Given the description of an element on the screen output the (x, y) to click on. 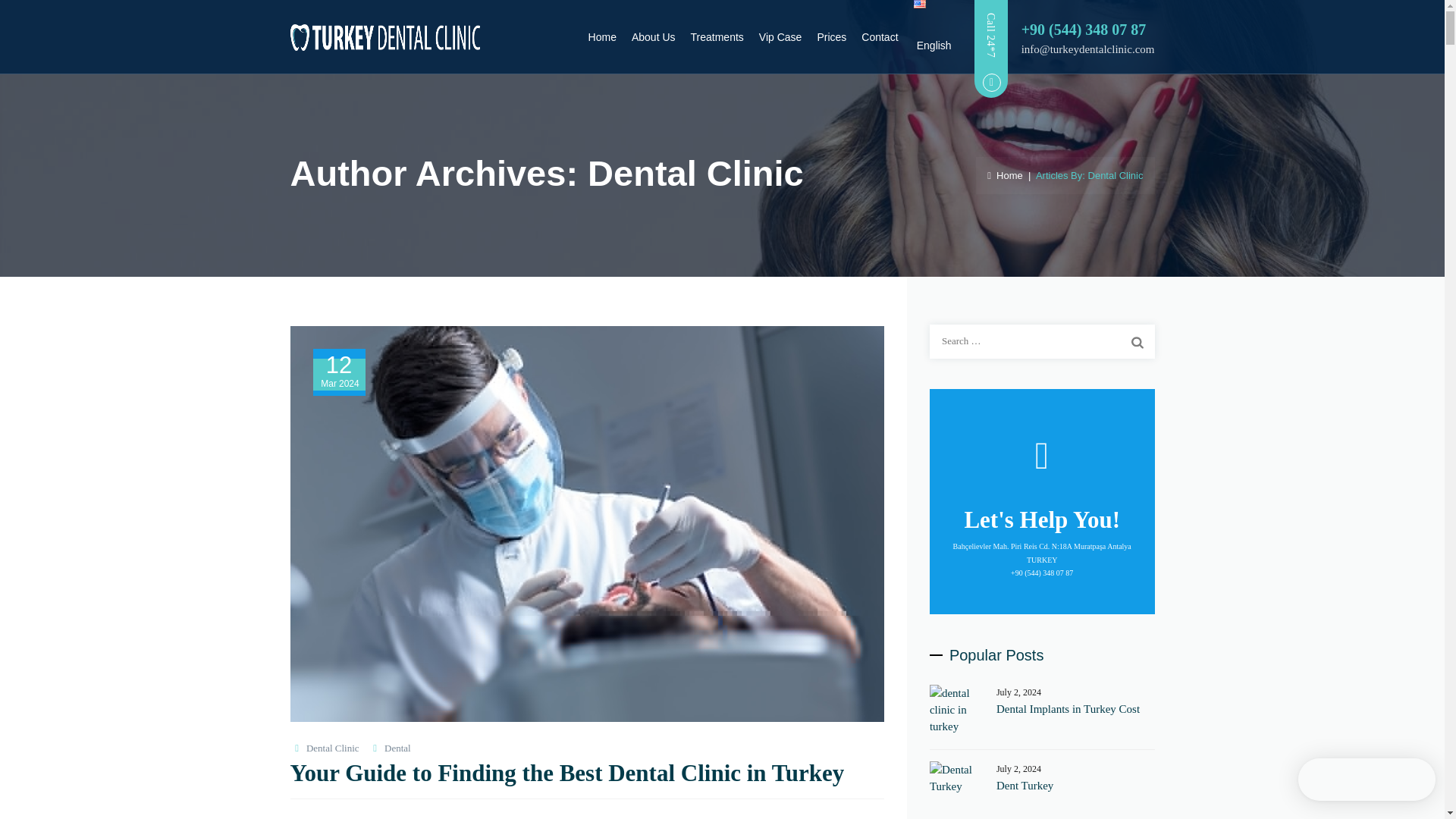
English (932, 37)
Dental Clinic (332, 747)
Vip Case (780, 37)
Search (1136, 341)
Home (602, 37)
Dental (397, 747)
Contact (879, 37)
Go to Turkey Dental Clinic. (1005, 174)
  Home (1005, 174)
Treatments (716, 37)
Prices (831, 37)
About Us (653, 37)
Turkey Dental Clinic (384, 37)
Search (1136, 341)
Smartsupp widget button (1366, 779)
